Given the description of an element on the screen output the (x, y) to click on. 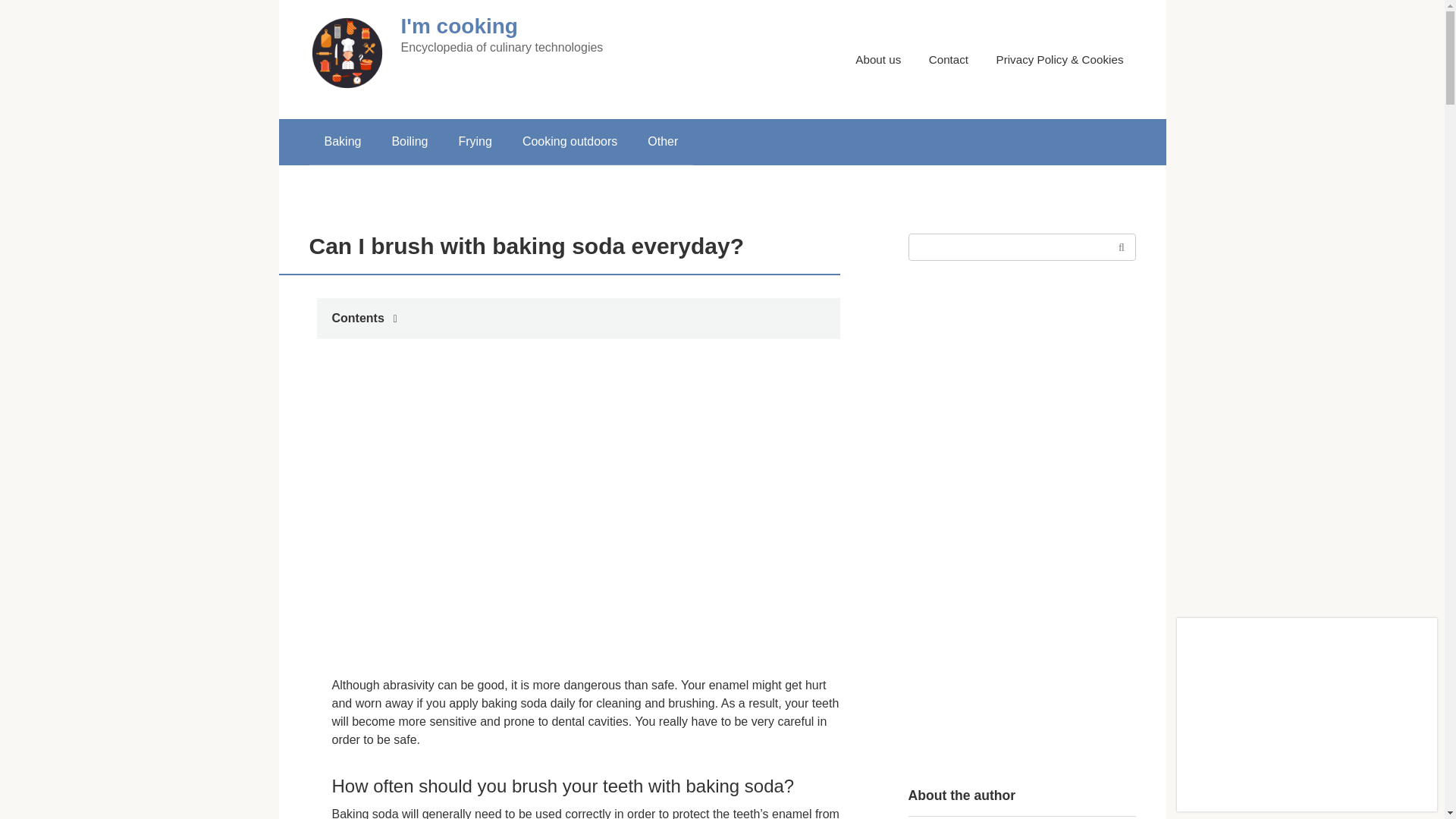
I'm cooking (458, 25)
Advertisement (723, 513)
Advertisement (471, 513)
Baking (342, 141)
Frying (474, 141)
Boiling (408, 141)
offer (1306, 714)
About us (878, 59)
Other (662, 141)
Contact (948, 59)
